Given the description of an element on the screen output the (x, y) to click on. 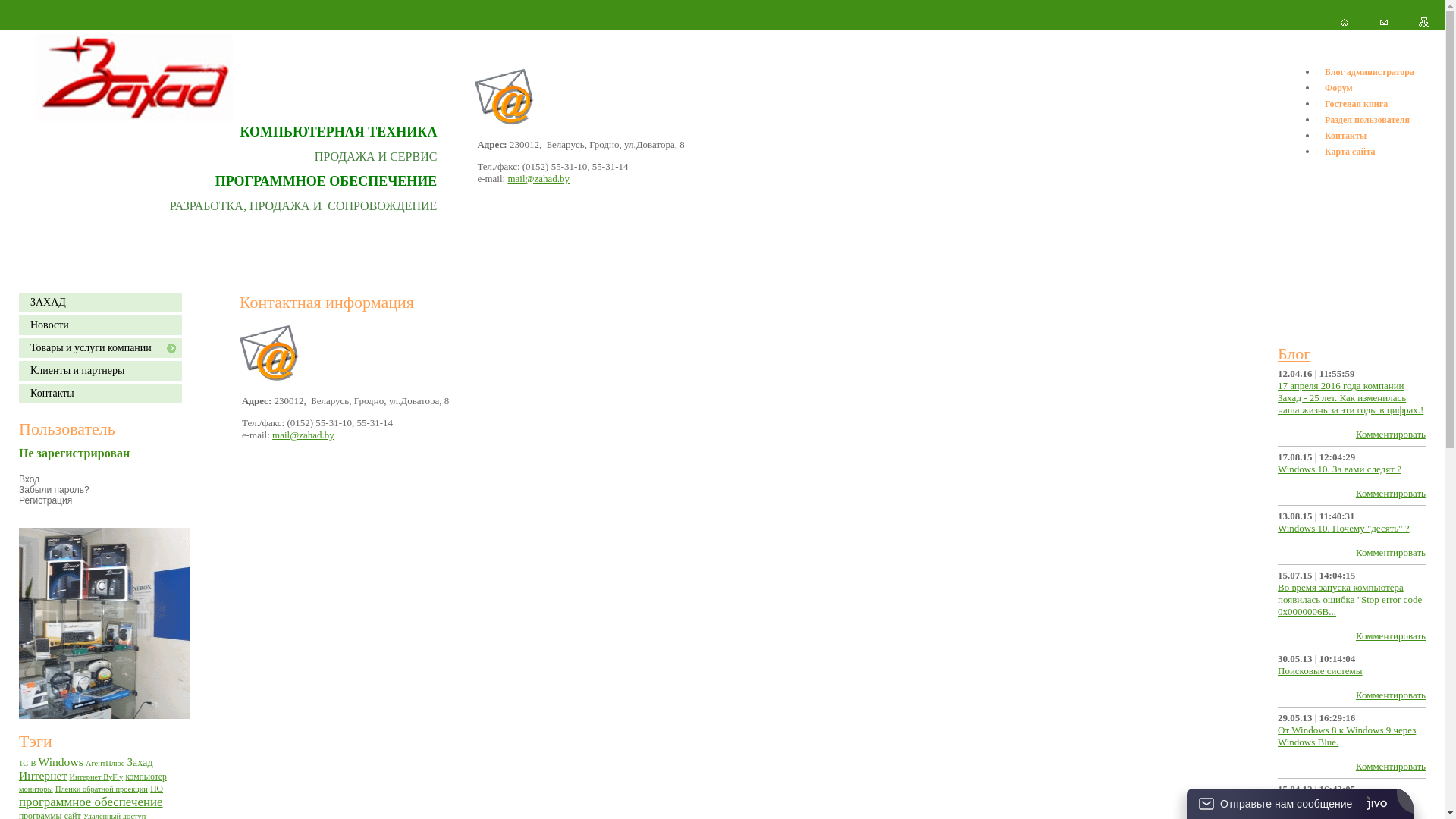
Windows Element type: text (60, 761)
mail@zahad.by Element type: text (303, 434)
mail@zahad.by Element type: text (538, 178)
1C Element type: text (23, 762)
B Element type: text (32, 762)
